Given the description of an element on the screen output the (x, y) to click on. 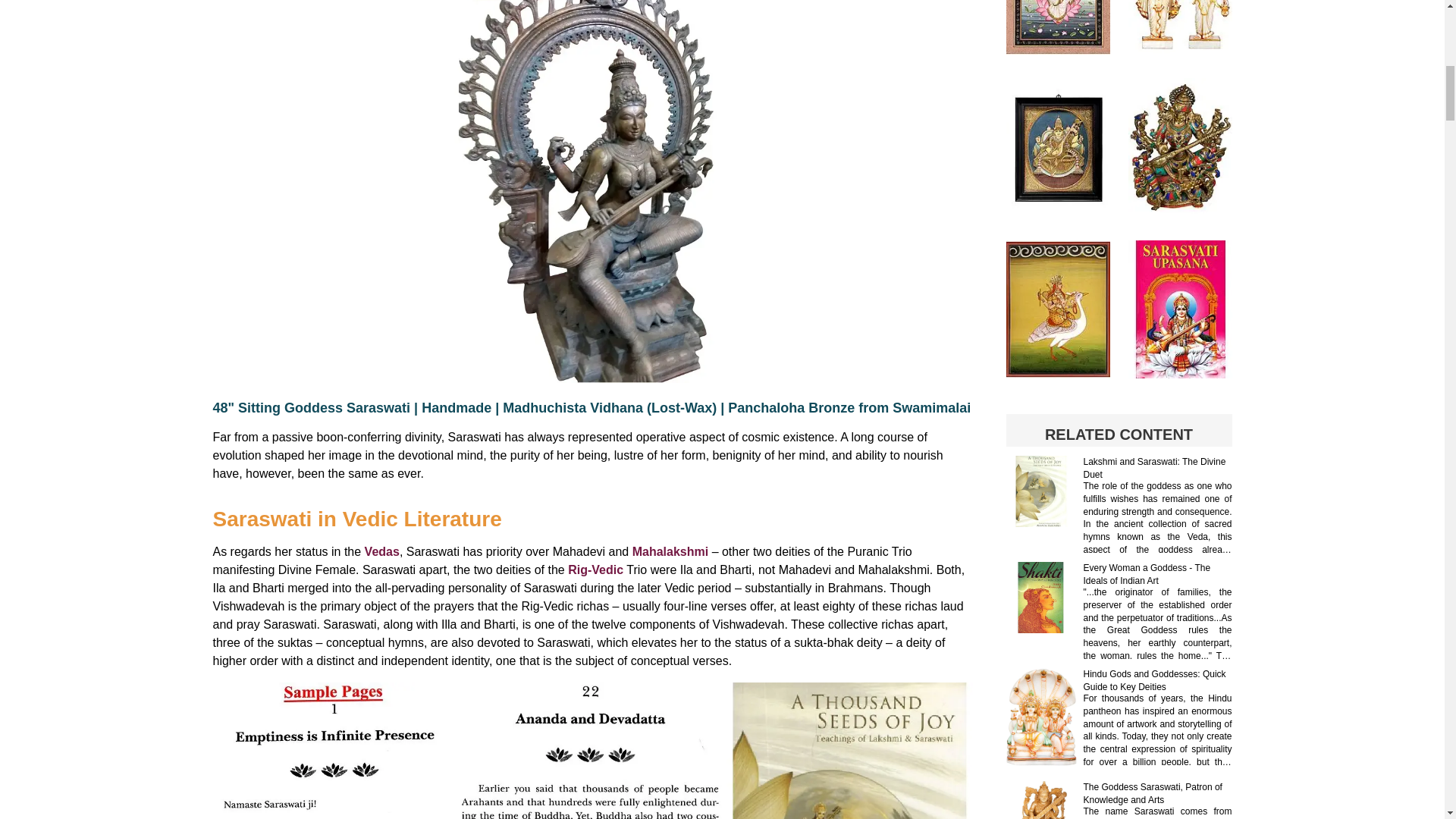
Mahalakshmi (669, 551)
Vedas (381, 551)
Rig-Vedic (595, 569)
